Given the description of an element on the screen output the (x, y) to click on. 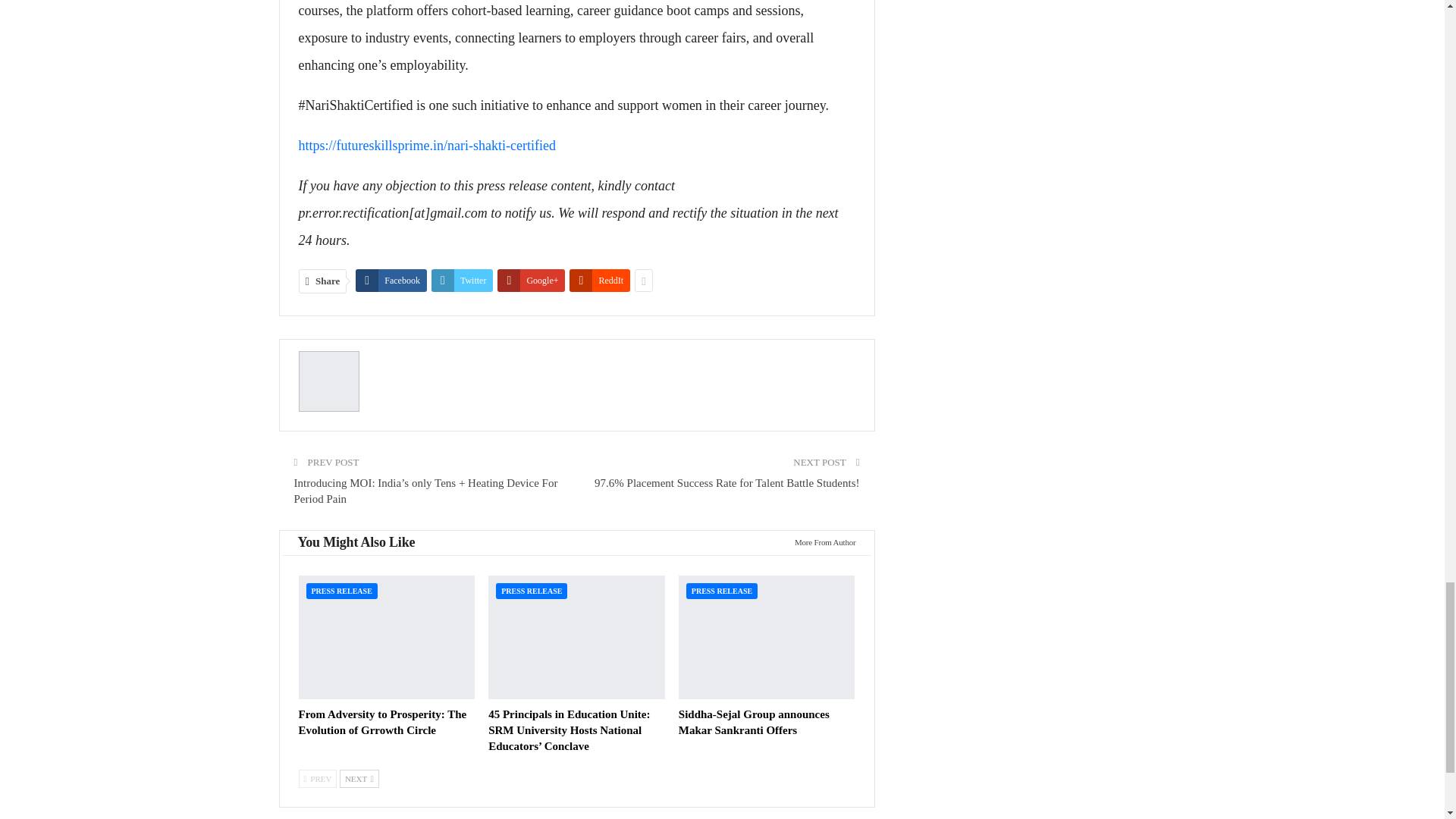
You Might Also Like (355, 542)
Siddha-Sejal Group announces Makar Sankranti Offers (767, 637)
Twitter (461, 280)
ReddIt (599, 280)
More From Author (821, 542)
Previous (317, 778)
Facebook (390, 280)
Siddha-Sejal Group announces Makar Sankranti Offers (753, 722)
